Given the description of an element on the screen output the (x, y) to click on. 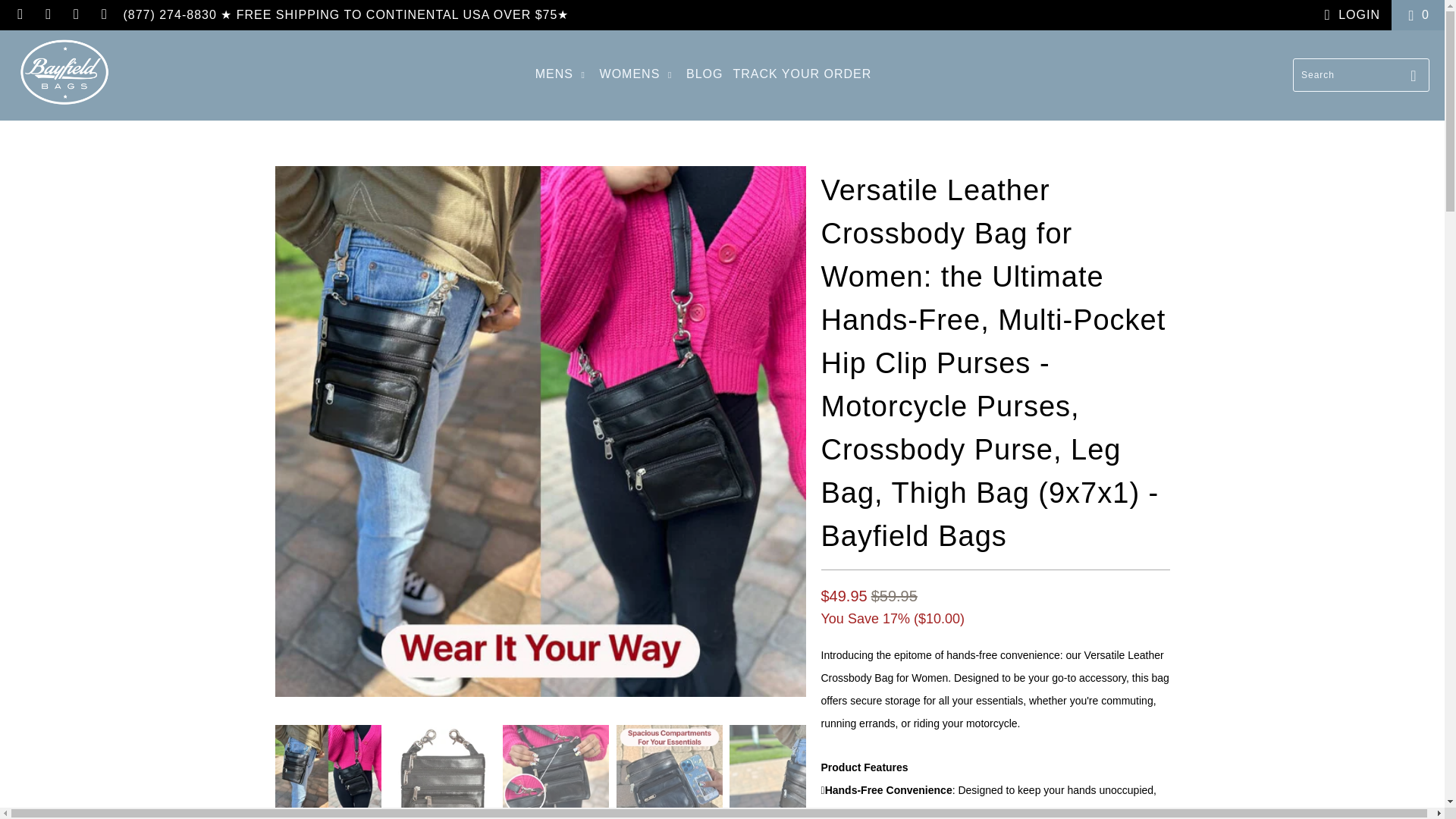
Bayfield Bags  (63, 75)
Bayfield Bags  on Instagram (75, 14)
Email Bayfield Bags  (104, 14)
LOGIN (1348, 15)
Bayfield Bags  on Pinterest (47, 14)
My Account  (1348, 15)
0 (1417, 15)
Bayfield Bags  on Facebook (19, 14)
